Given the description of an element on the screen output the (x, y) to click on. 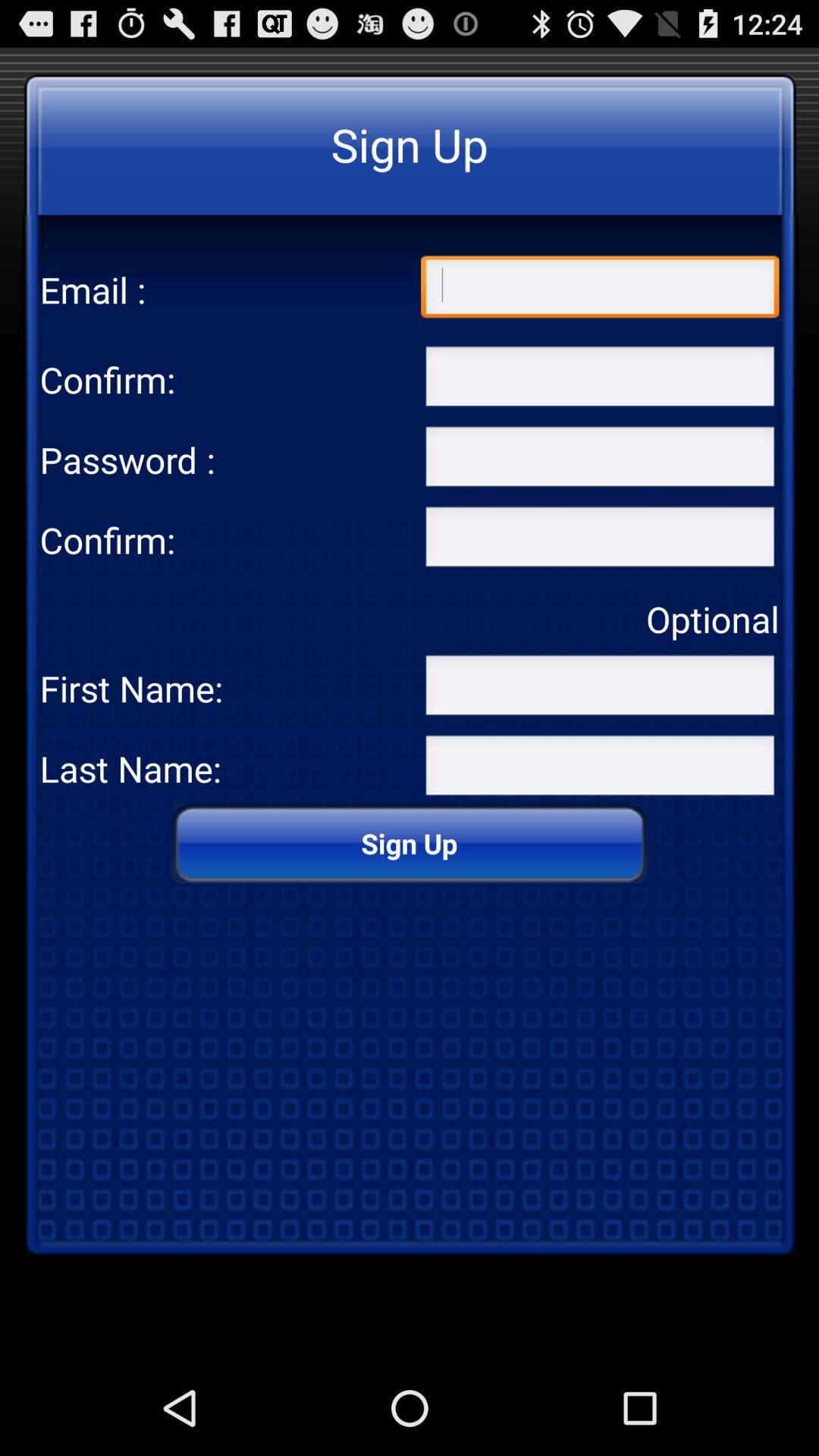
enter password field (599, 540)
